Given the description of an element on the screen output the (x, y) to click on. 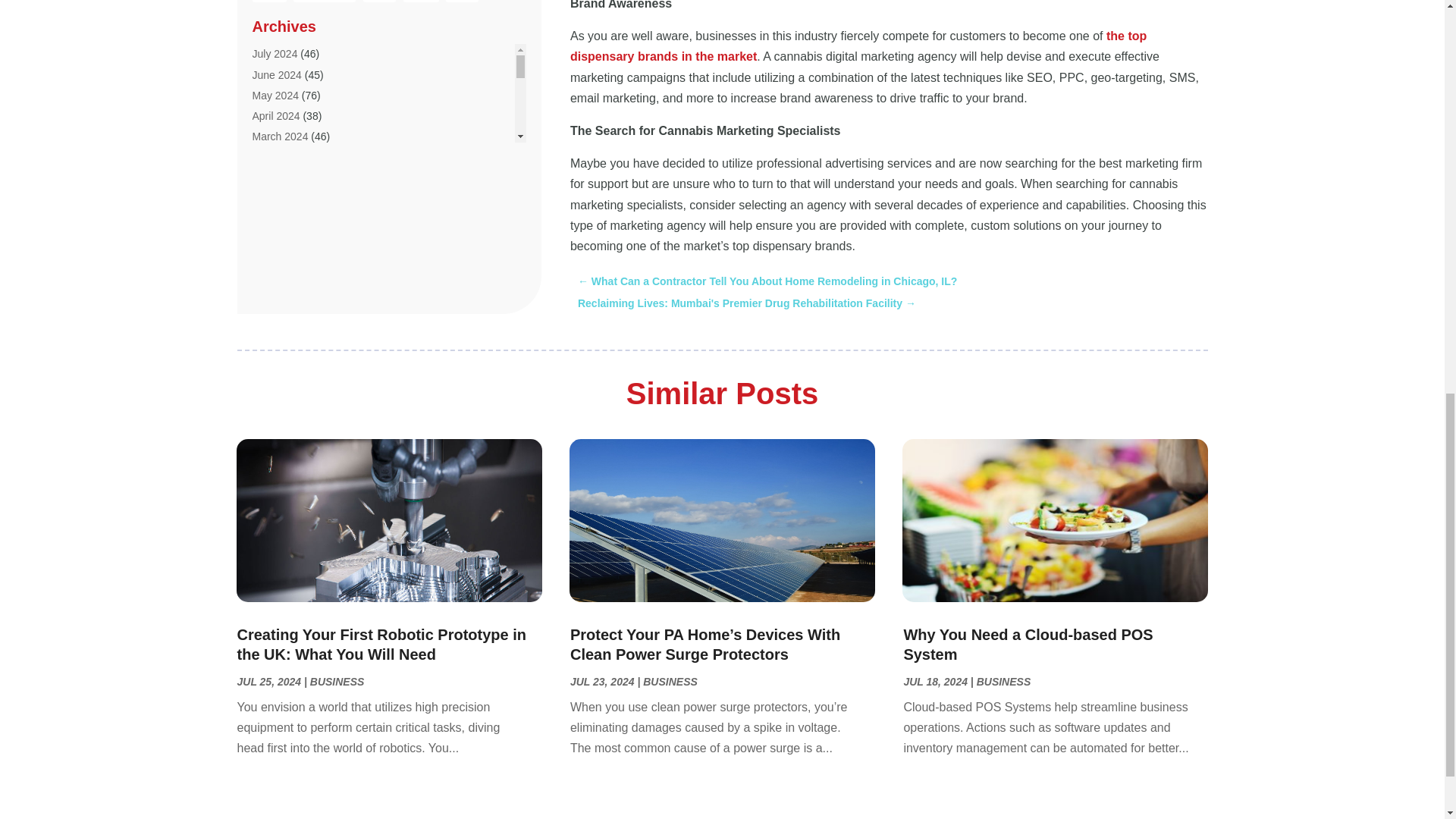
Air Distribution (285, 160)
Animal Removal (290, 387)
Aesthetics (276, 78)
Aerospace (276, 57)
Aircraft Cargo Loaders (304, 222)
Aluminium (276, 284)
Adult Sex Dating (290, 16)
Alarm Systems (287, 263)
Aluminum Supplier (295, 325)
Airport Shuttle Service (303, 243)
Air Duct Cleaning (292, 181)
Advertising And Marketing (313, 37)
Agricultural Service (297, 98)
Agriculture And Forestry (308, 119)
Animal Hospital (287, 367)
